Given the description of an element on the screen output the (x, y) to click on. 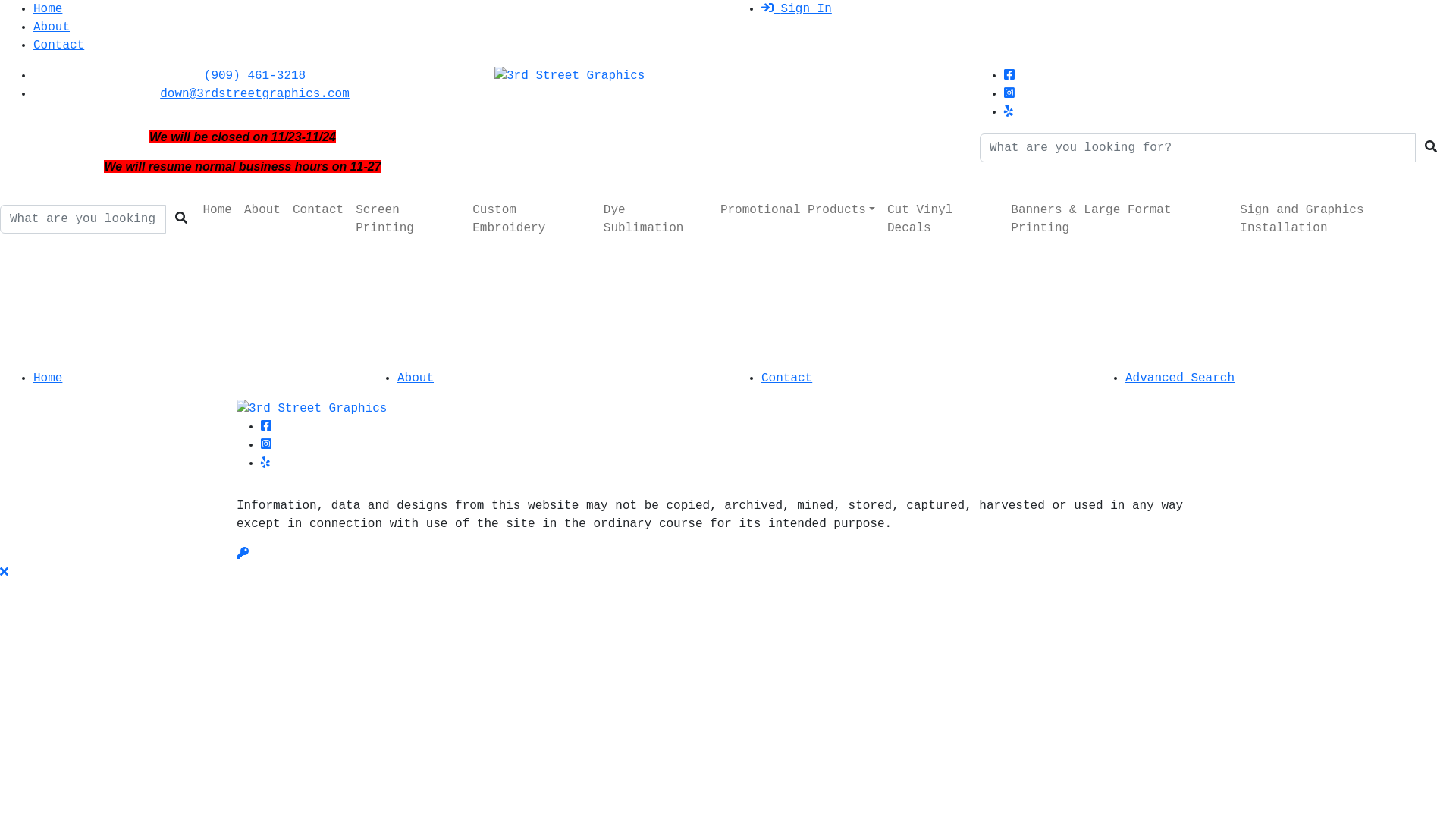
Cut Vinyl Decals Element type: text (942, 218)
Banners & Large Format Printing Element type: text (1118, 218)
Visit us on Yelp Element type: hover (264, 463)
Visit us on Facebook Element type: hover (265, 426)
Custom Embroidery Element type: text (531, 218)
Dye Sublimation Element type: text (655, 218)
Advanced Search Element type: text (1179, 378)
(909) 461-3218 Element type: text (254, 75)
About Element type: text (51, 27)
Contact Element type: text (317, 209)
Home Element type: text (217, 209)
Home Element type: text (47, 8)
Visit us on Yelp Element type: hover (1008, 112)
Contact Element type: text (786, 378)
Promotional Products Element type: text (797, 209)
Home Element type: text (47, 378)
Screen Printing Element type: text (407, 218)
About Element type: text (415, 378)
down@3rdstreetgraphics.com Element type: text (254, 93)
Close Search Element type: text (4, 572)
Contact Element type: text (58, 45)
Sign In Element type: text (796, 8)
Visit us on Facebook Element type: hover (1009, 75)
Visit us on Instagram Element type: hover (265, 444)
About Element type: text (262, 209)
Visit us on Instagram Element type: hover (1009, 93)
